Given the description of an element on the screen output the (x, y) to click on. 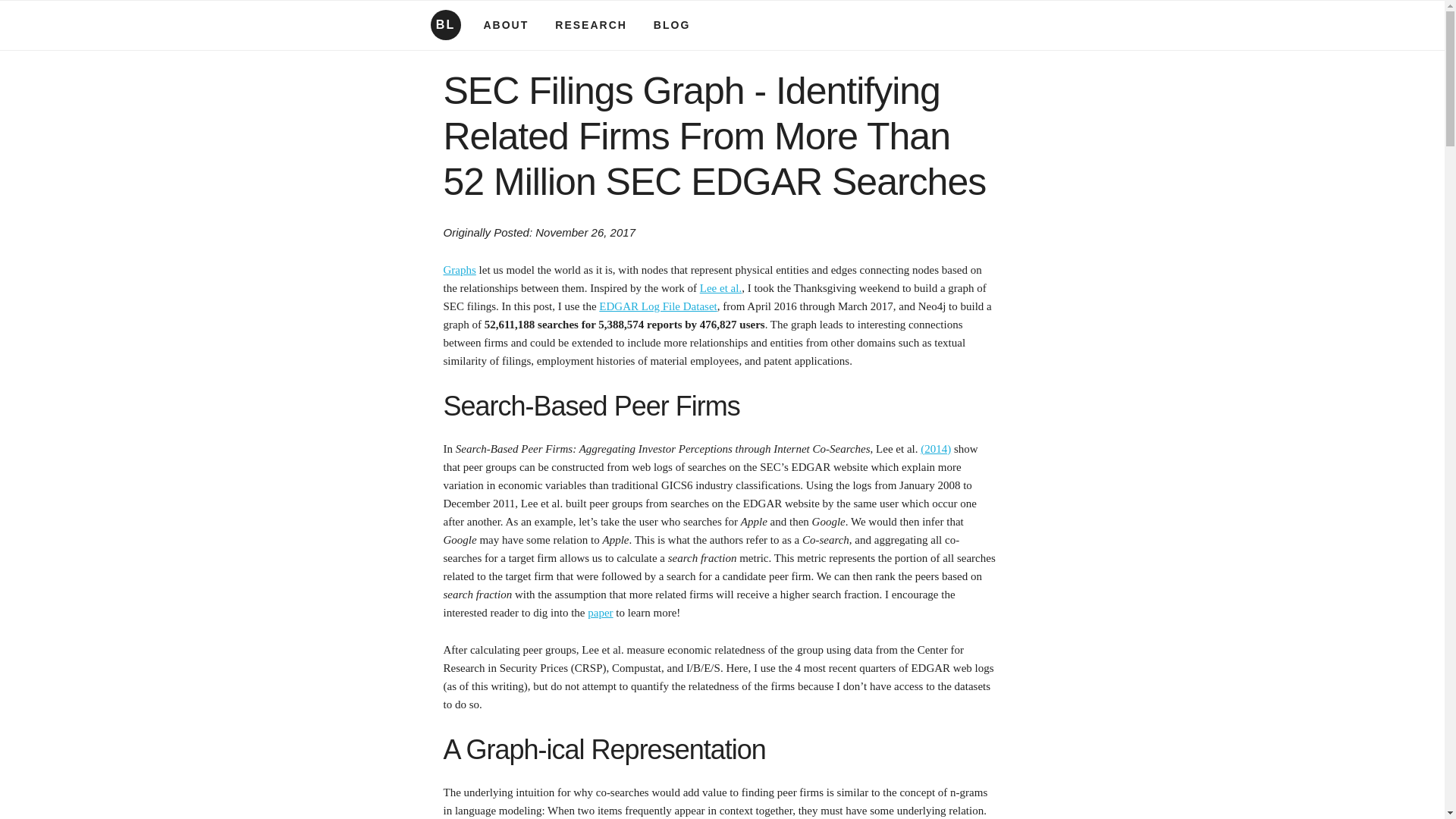
Lee et al. (720, 287)
EDGAR Log File Dataset (657, 306)
BL (451, 24)
BLOG (671, 24)
Graphs (459, 269)
paper (600, 612)
ABOUT (506, 24)
RESEARCH (590, 24)
